Given the description of an element on the screen output the (x, y) to click on. 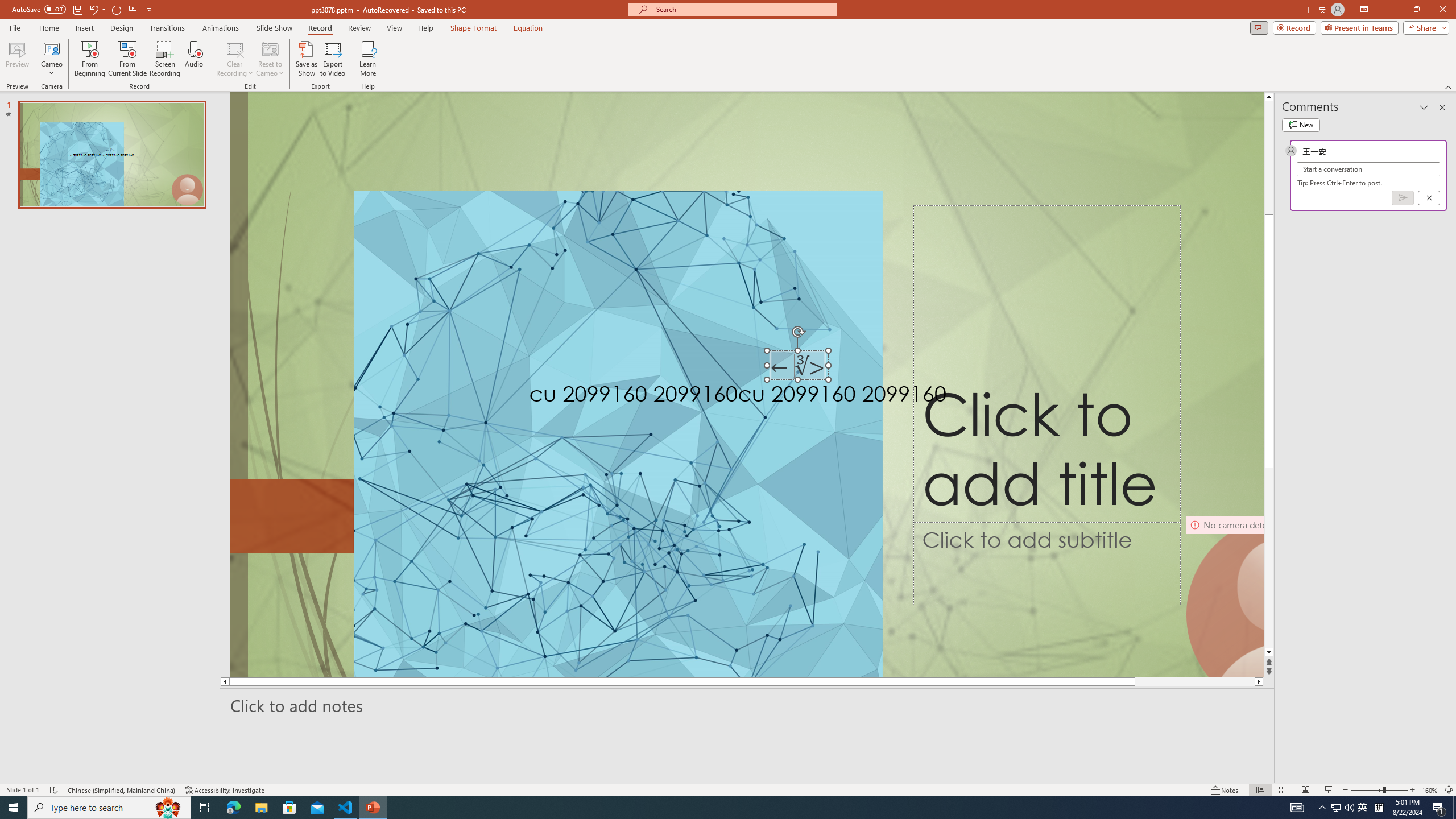
Zoom 160% (1430, 790)
